Given the description of an element on the screen output the (x, y) to click on. 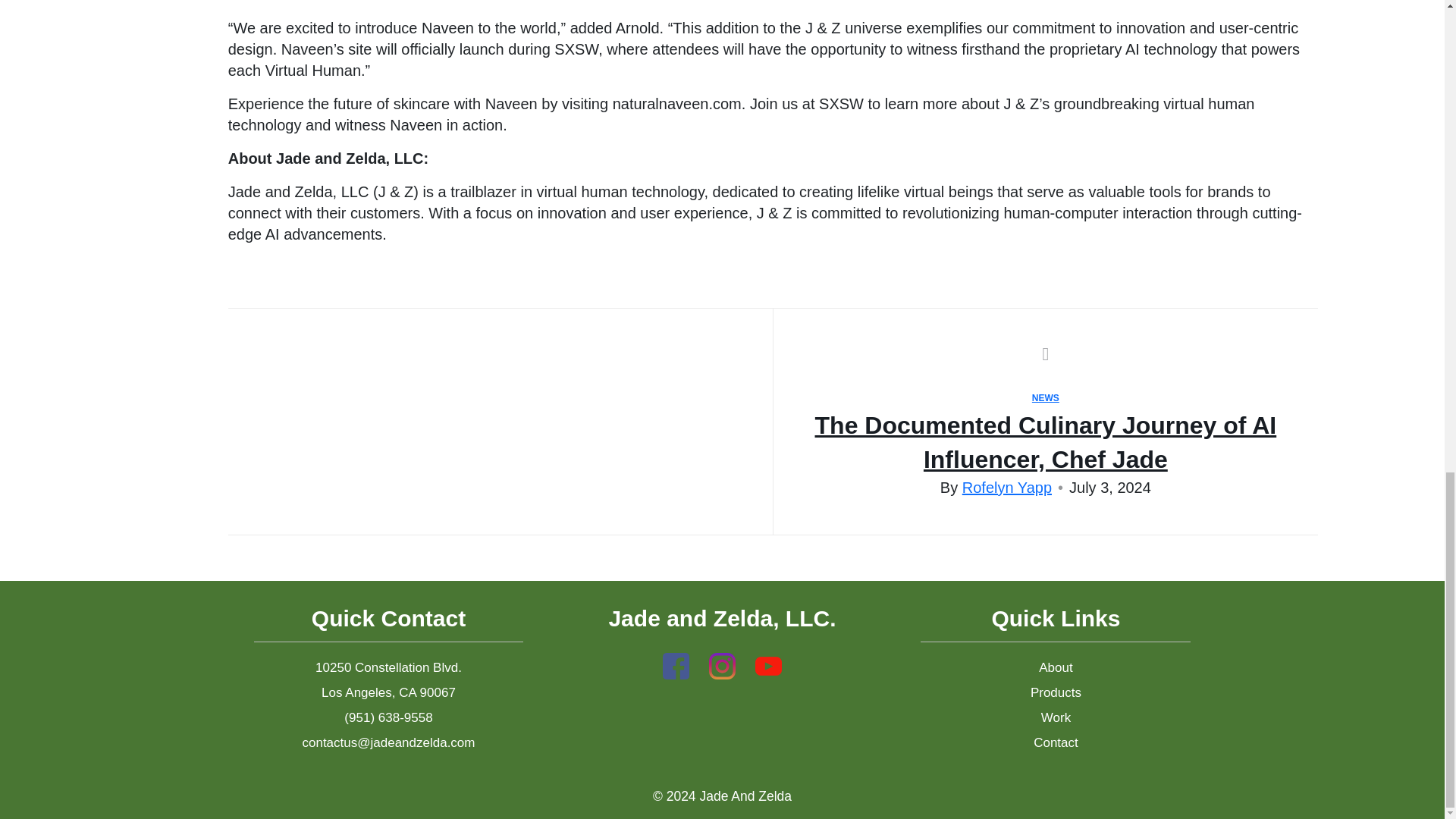
Contact (1055, 742)
Products (1055, 692)
NEWS (1045, 398)
Rofelyn Yapp (1006, 487)
About (1055, 667)
Work (1055, 717)
The Documented Culinary Journey of AI Influencer, Chef Jade (1045, 442)
